Given the description of an element on the screen output the (x, y) to click on. 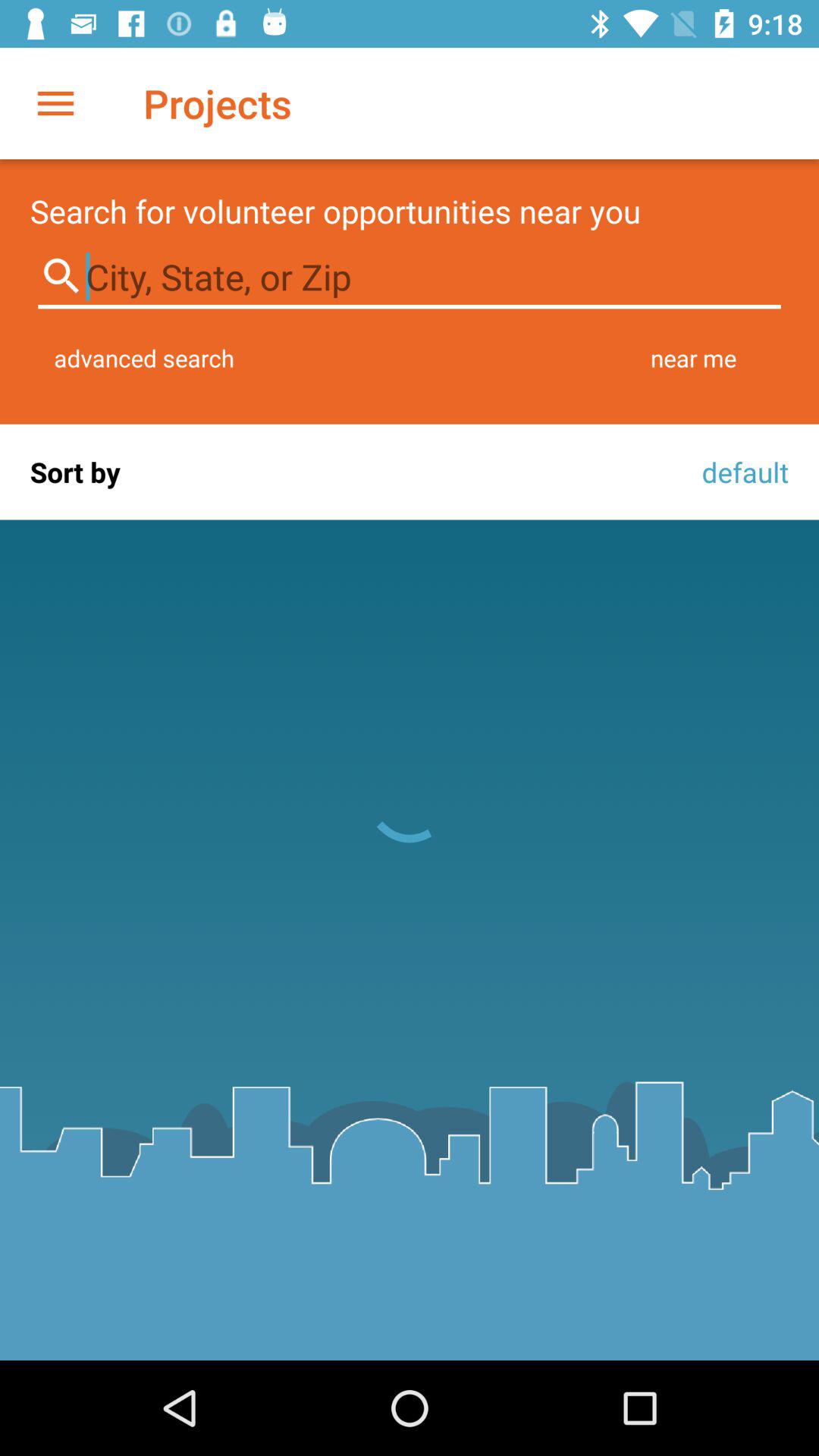
launch the item to the left of the projects (55, 103)
